Given the description of an element on the screen output the (x, y) to click on. 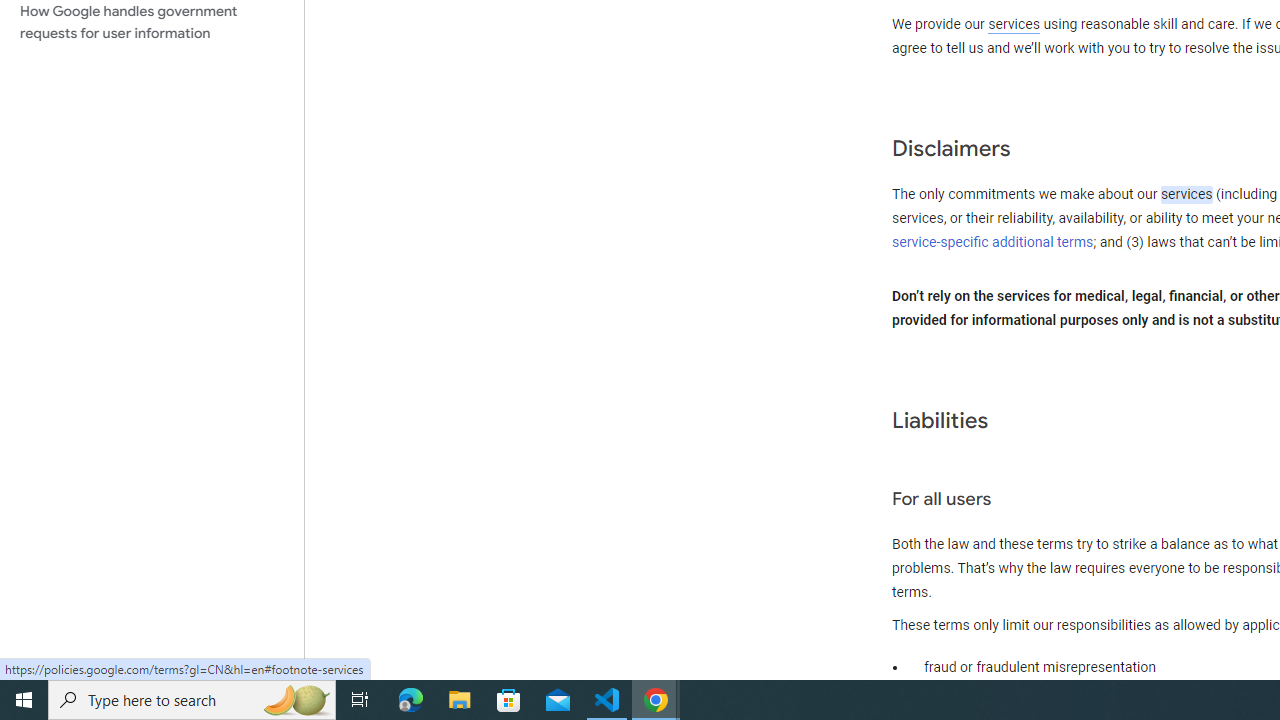
services (1186, 195)
service-specific additional terms (993, 242)
